Given the description of an element on the screen output the (x, y) to click on. 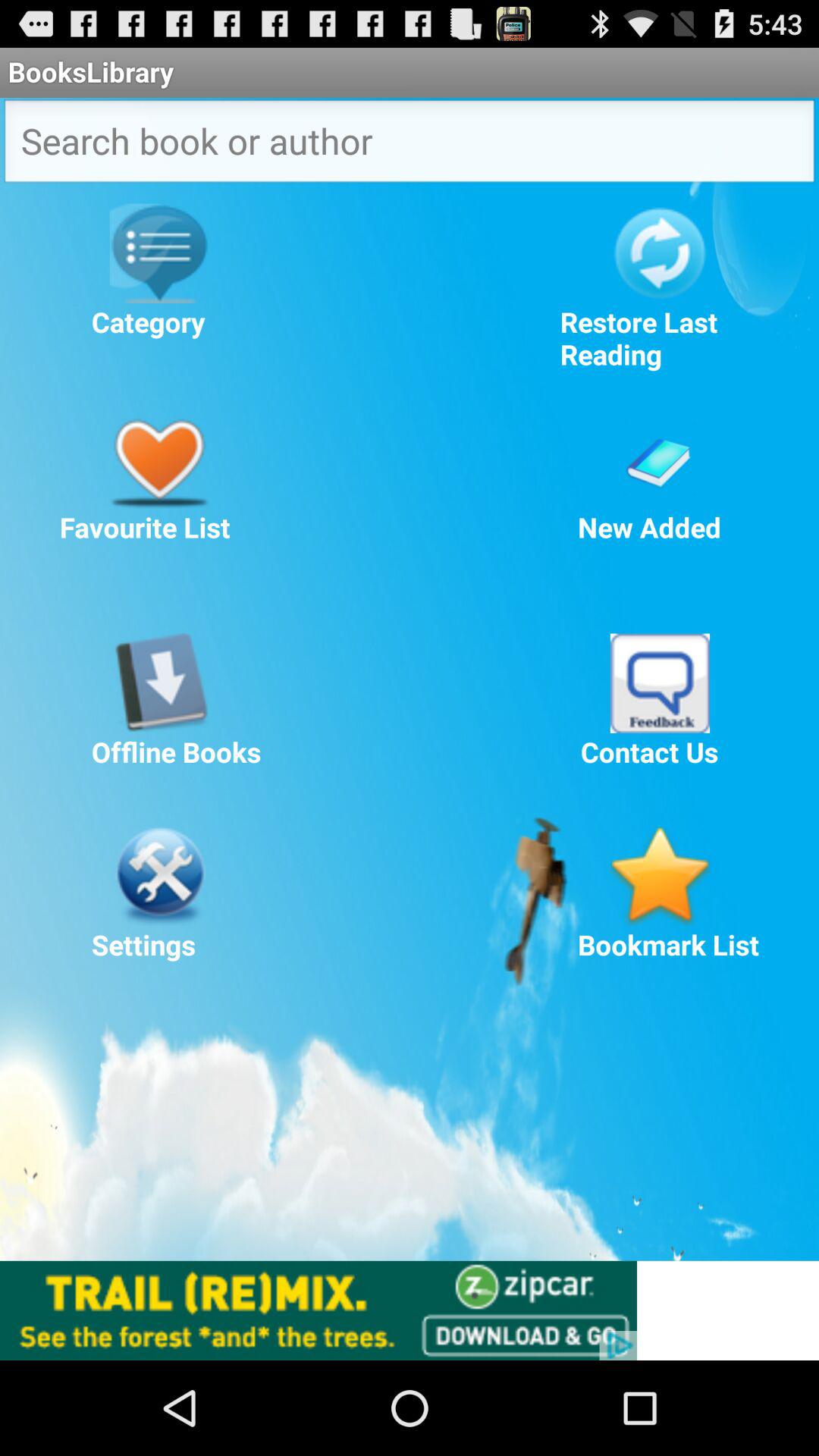
open app (659, 683)
